Given the description of an element on the screen output the (x, y) to click on. 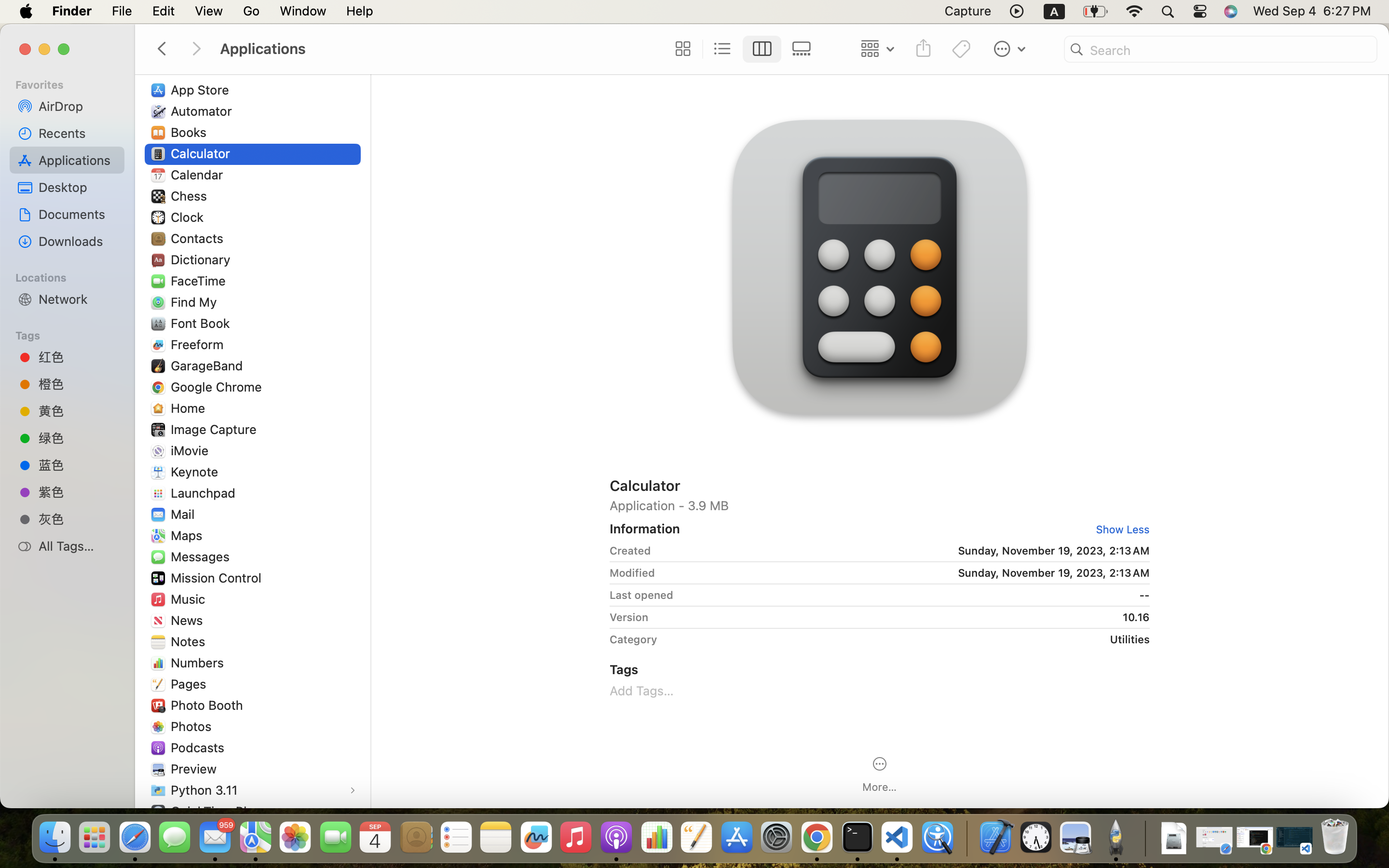
Calendar Element type: AXTextField (198, 174)
Numbers Element type: AXTextField (199, 662)
黄色 Element type: AXStaticText (77, 410)
Automator Element type: AXTextField (203, 110)
AirDrop Element type: AXStaticText (77, 105)
